Given the description of an element on the screen output the (x, y) to click on. 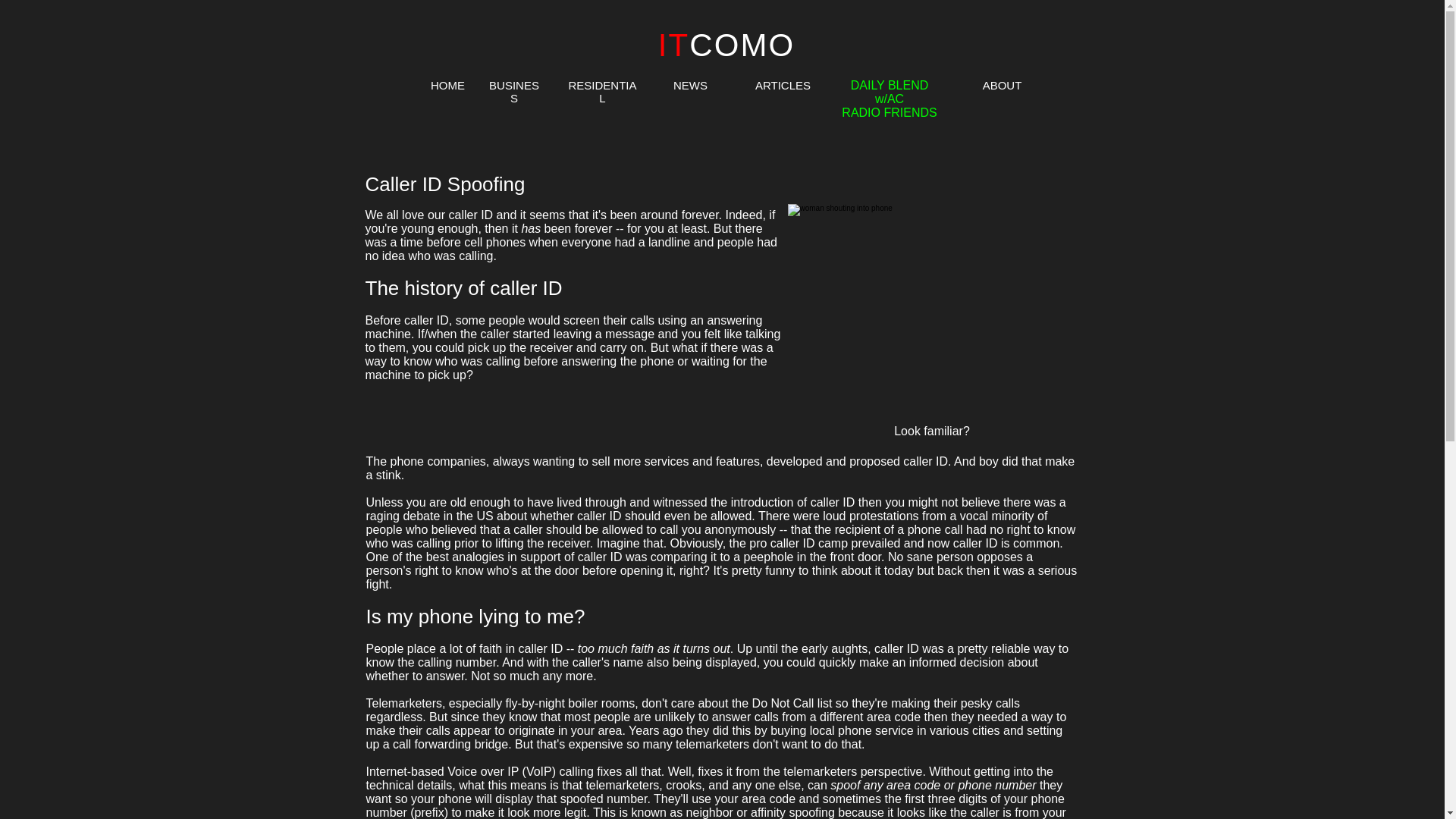
HOME (447, 84)
IT (674, 45)
ARTICLES (782, 84)
RESIDENTIAL (603, 91)
BUSINESS (513, 91)
NEWS (689, 84)
ABOUT (1002, 84)
COMO (741, 45)
